Given the description of an element on the screen output the (x, y) to click on. 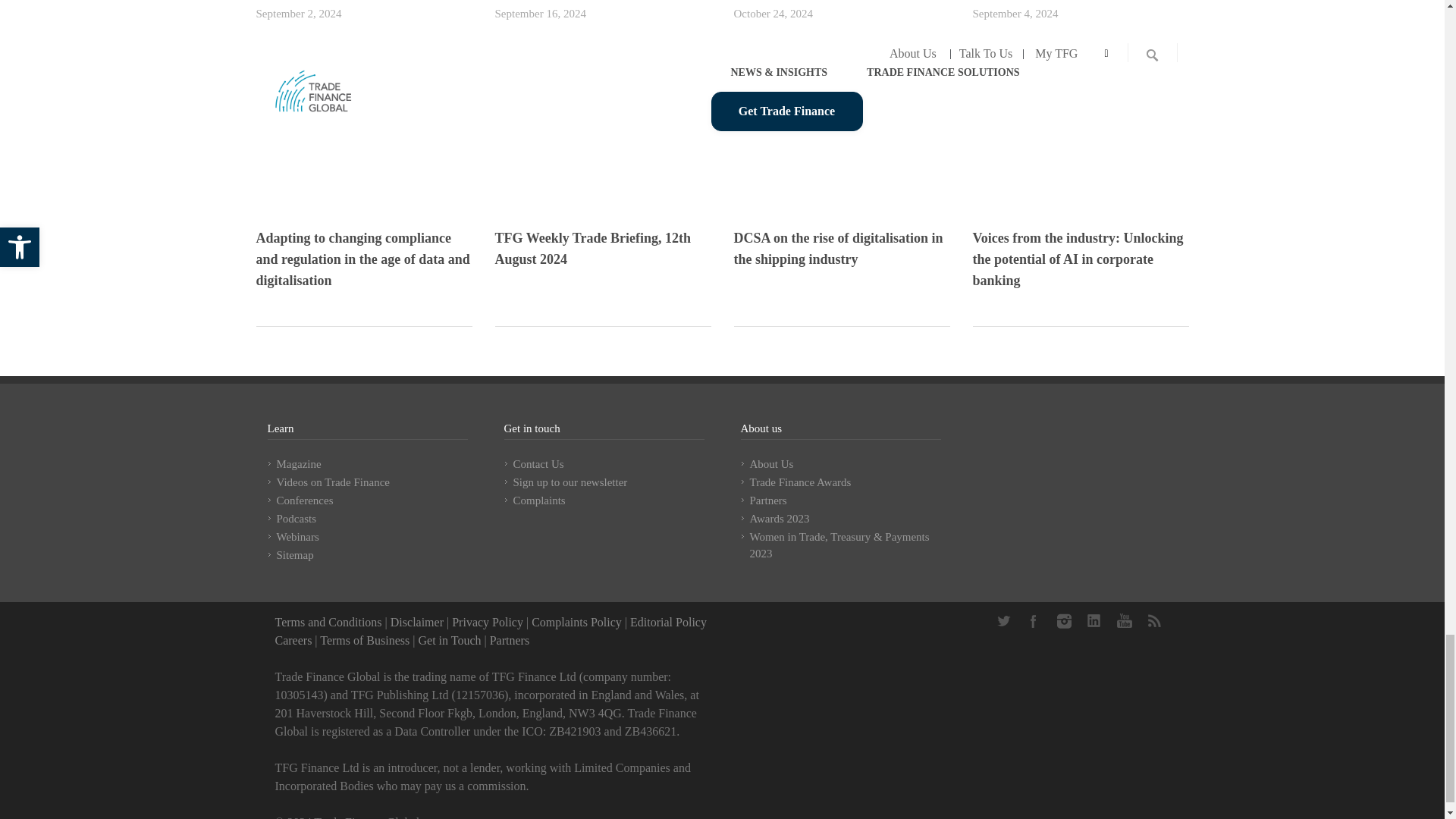
Editorial Policy (668, 621)
Terms of Business (364, 640)
Disclaimer (417, 621)
Complaints Policy (576, 621)
Privacy Policy (486, 621)
Contact Us (448, 640)
Terms and Conditions (328, 621)
Trade Finance Jobs (293, 640)
